Given the description of an element on the screen output the (x, y) to click on. 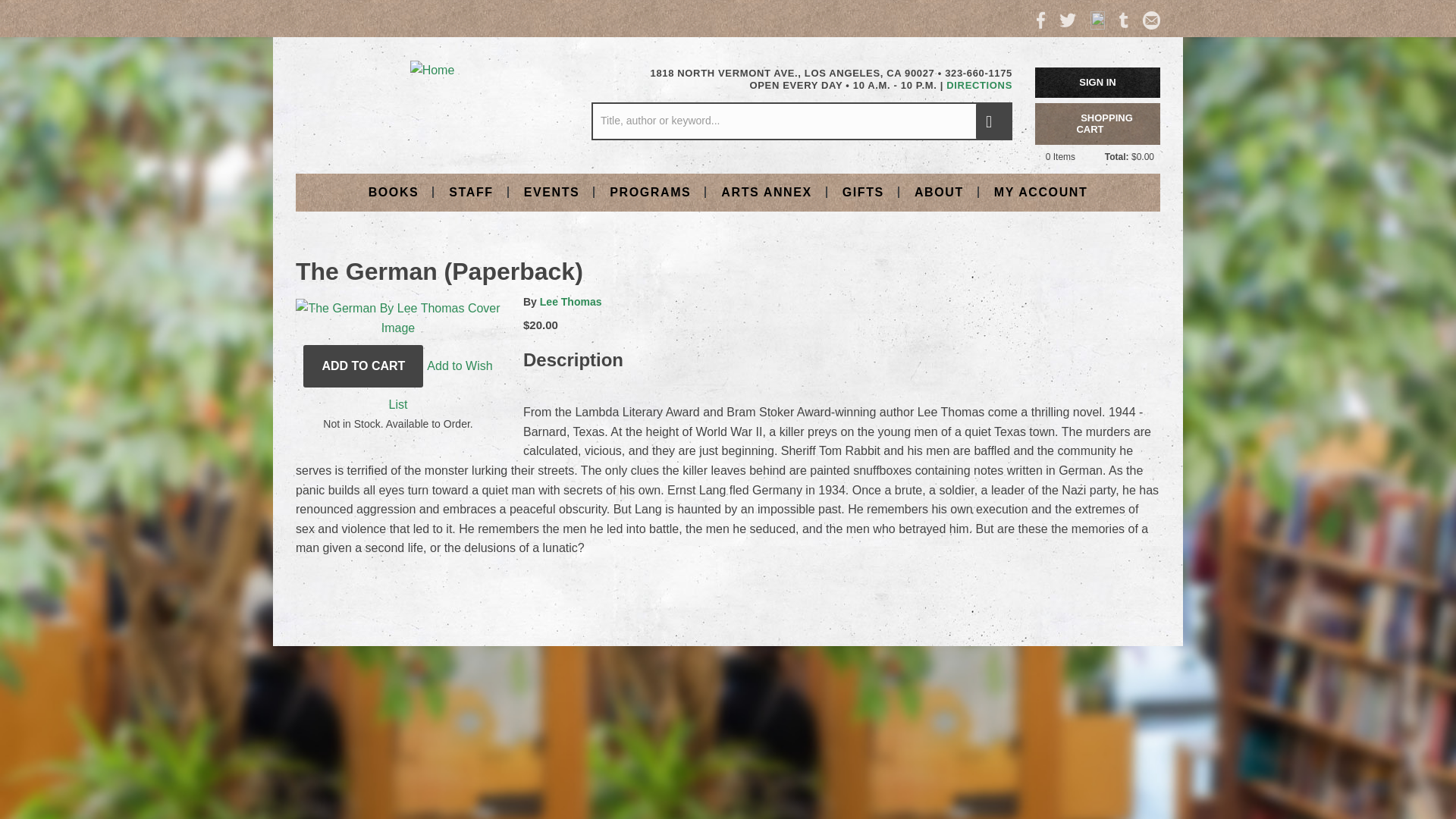
Add to Cart (362, 365)
DIRECTIONS (978, 84)
STAFF (470, 191)
search (993, 121)
PROGRAMS (650, 191)
Title, author or keyword... (801, 121)
BOOKS (393, 191)
GIFTS (863, 191)
Home (432, 69)
search (993, 121)
